Given the description of an element on the screen output the (x, y) to click on. 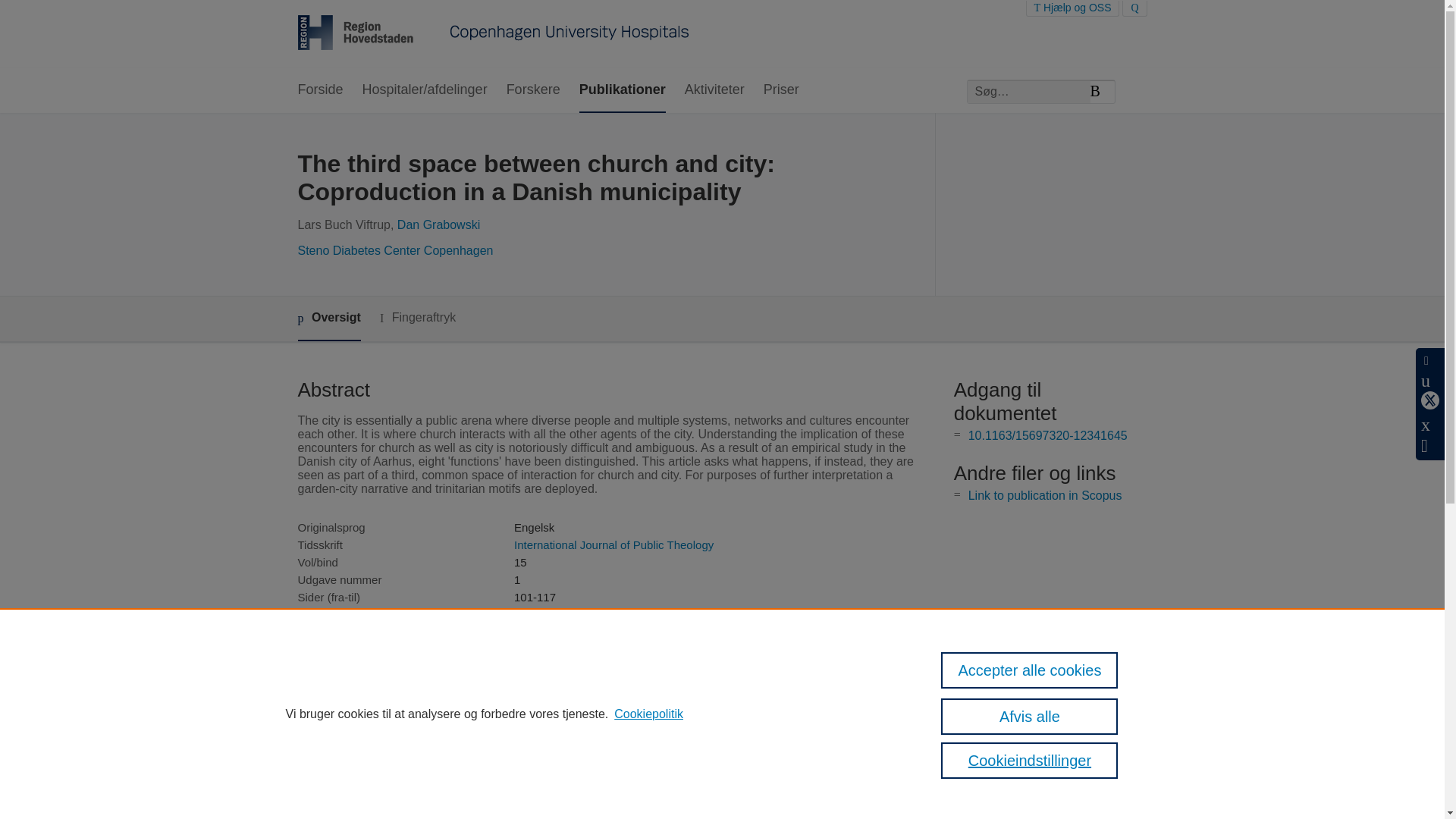
Region Hovedstadens forskningsportal Forside (492, 34)
Forskere (533, 90)
Forside (319, 90)
Dan Grabowski (438, 224)
Oversigt (328, 318)
Steno Diabetes Center Copenhagen (395, 250)
Link to publication in Scopus (1045, 495)
Fingeraftryk (417, 317)
International Journal of Public Theology (613, 544)
